Given the description of an element on the screen output the (x, y) to click on. 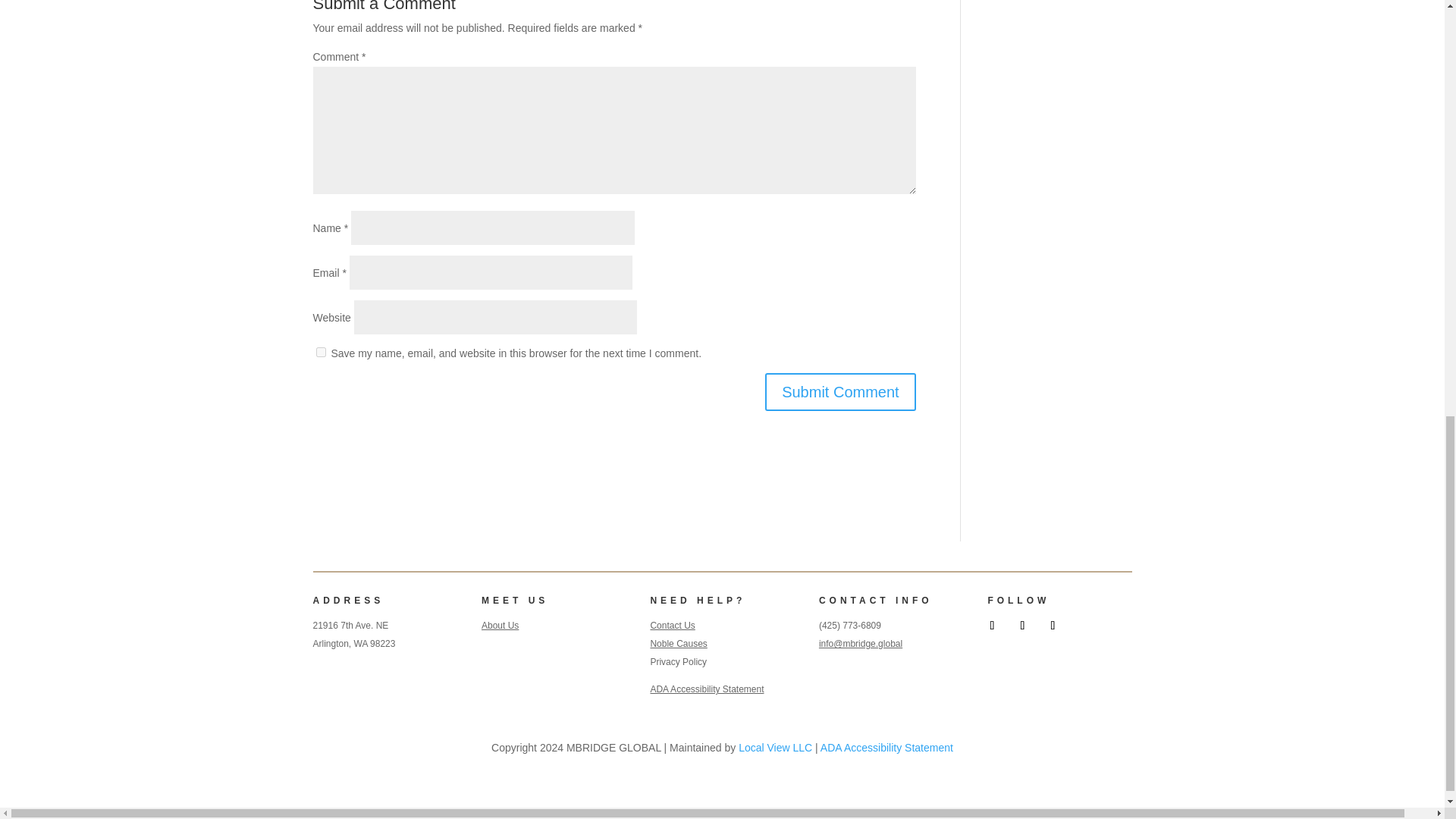
Local View LLC (775, 747)
Contact Us (671, 624)
Submit Comment (840, 392)
ADA Accessibility Statement (887, 747)
yes (319, 351)
Submit Comment (840, 392)
Follow on Instagram (1052, 625)
Follow on Facebook (991, 625)
ADA Accessibility Statement (705, 688)
Noble Causes (677, 643)
